Given the description of an element on the screen output the (x, y) to click on. 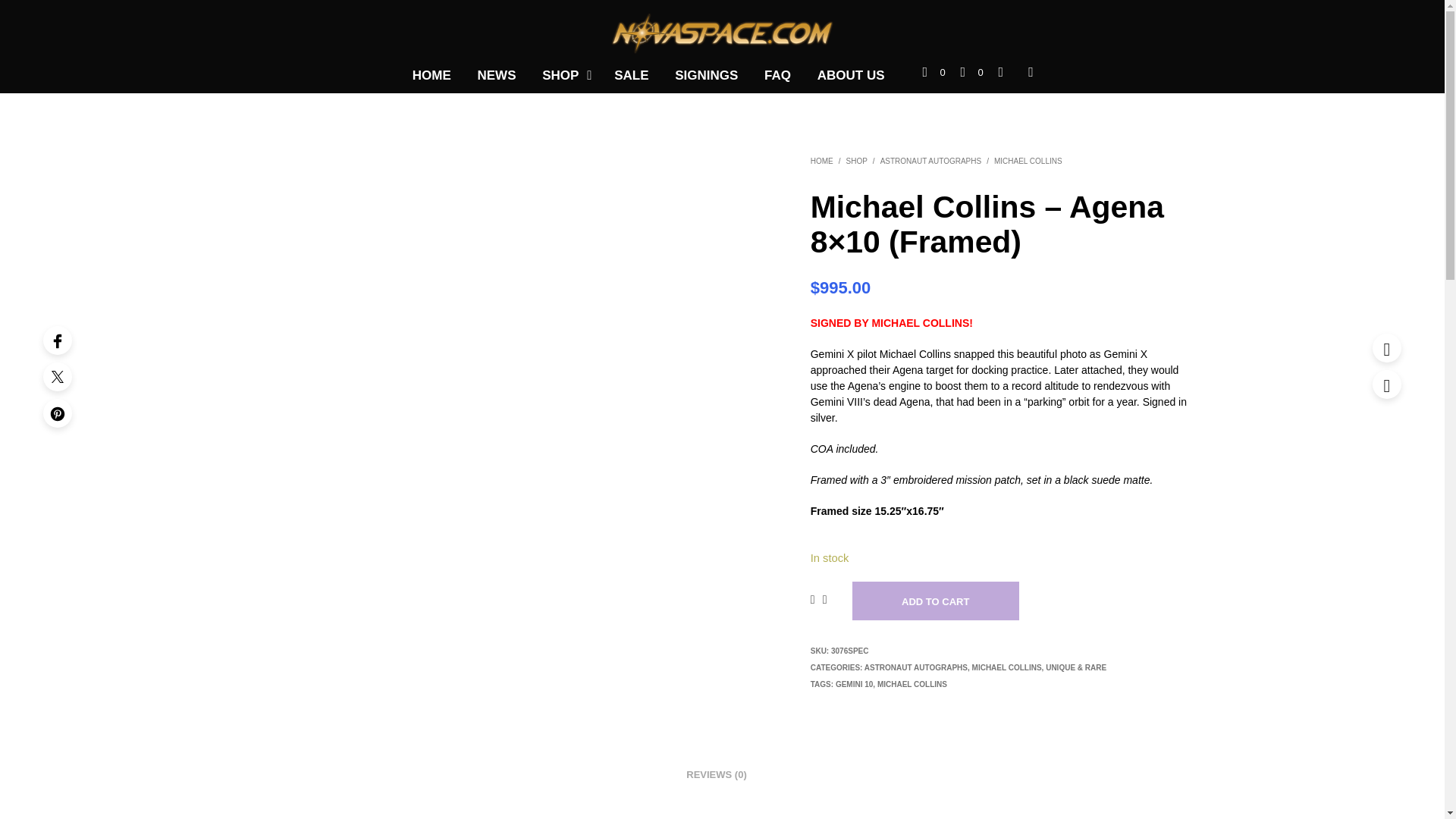
ADD TO CART (935, 600)
SHOP (856, 160)
HOME (821, 160)
HOME (432, 75)
0 (972, 72)
0 (933, 72)
ABOUT US (851, 75)
SALE (630, 75)
SIGNINGS (706, 75)
MICHAEL COLLINS (1007, 667)
NEWS (496, 75)
MICHAEL COLLINS (1028, 160)
SHOP (560, 75)
ASTRONAUT AUTOGRAPHS (916, 667)
FAQ (777, 75)
